Given the description of an element on the screen output the (x, y) to click on. 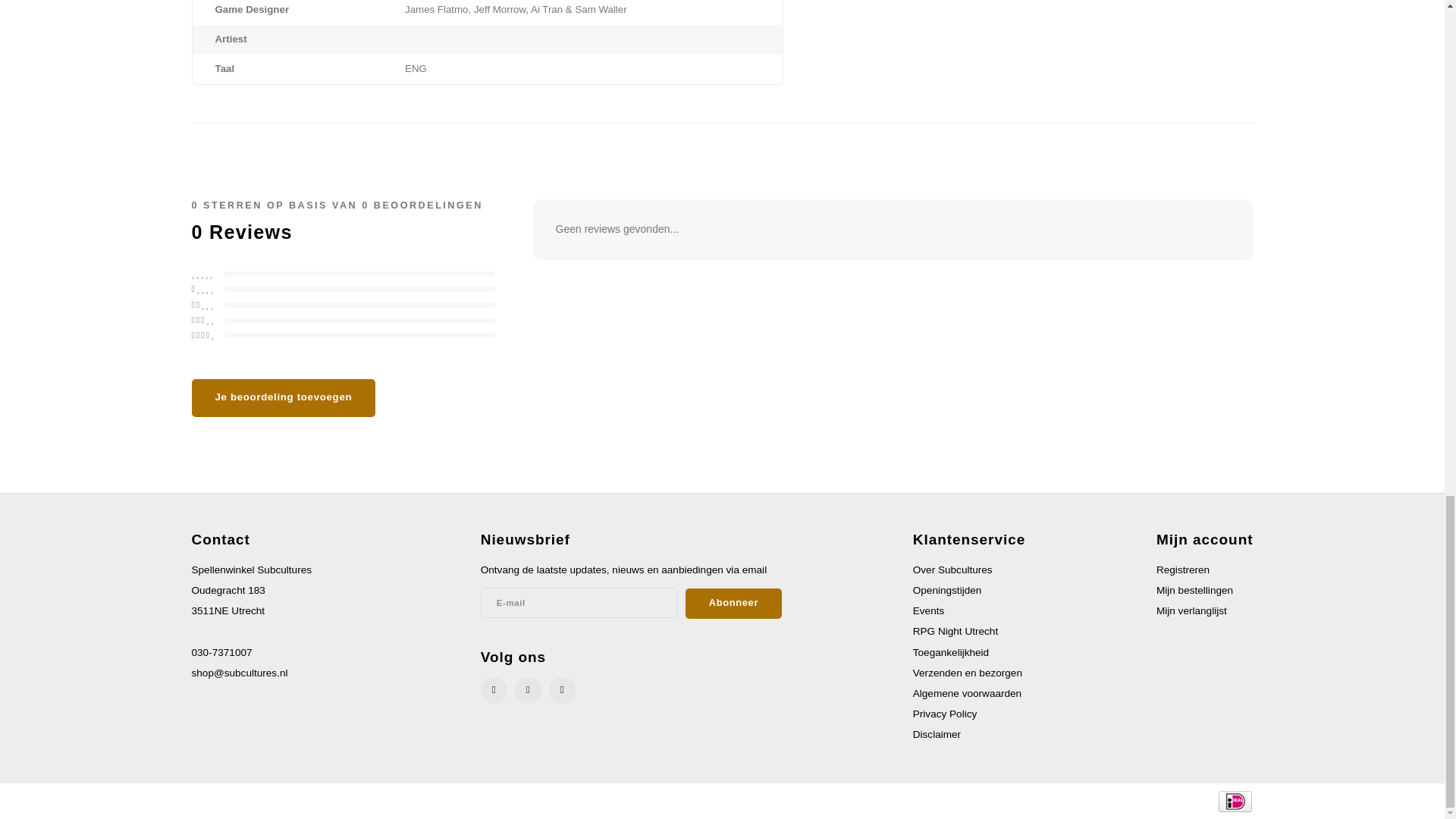
Mijn verlanglijst (1191, 610)
Betaalmethoden (1233, 800)
Instagram Subcultures  (528, 690)
Mijn bestellingen (1194, 590)
Lightspeed (391, 800)
Abonneer (733, 603)
Registreren (1182, 569)
